Given the description of an element on the screen output the (x, y) to click on. 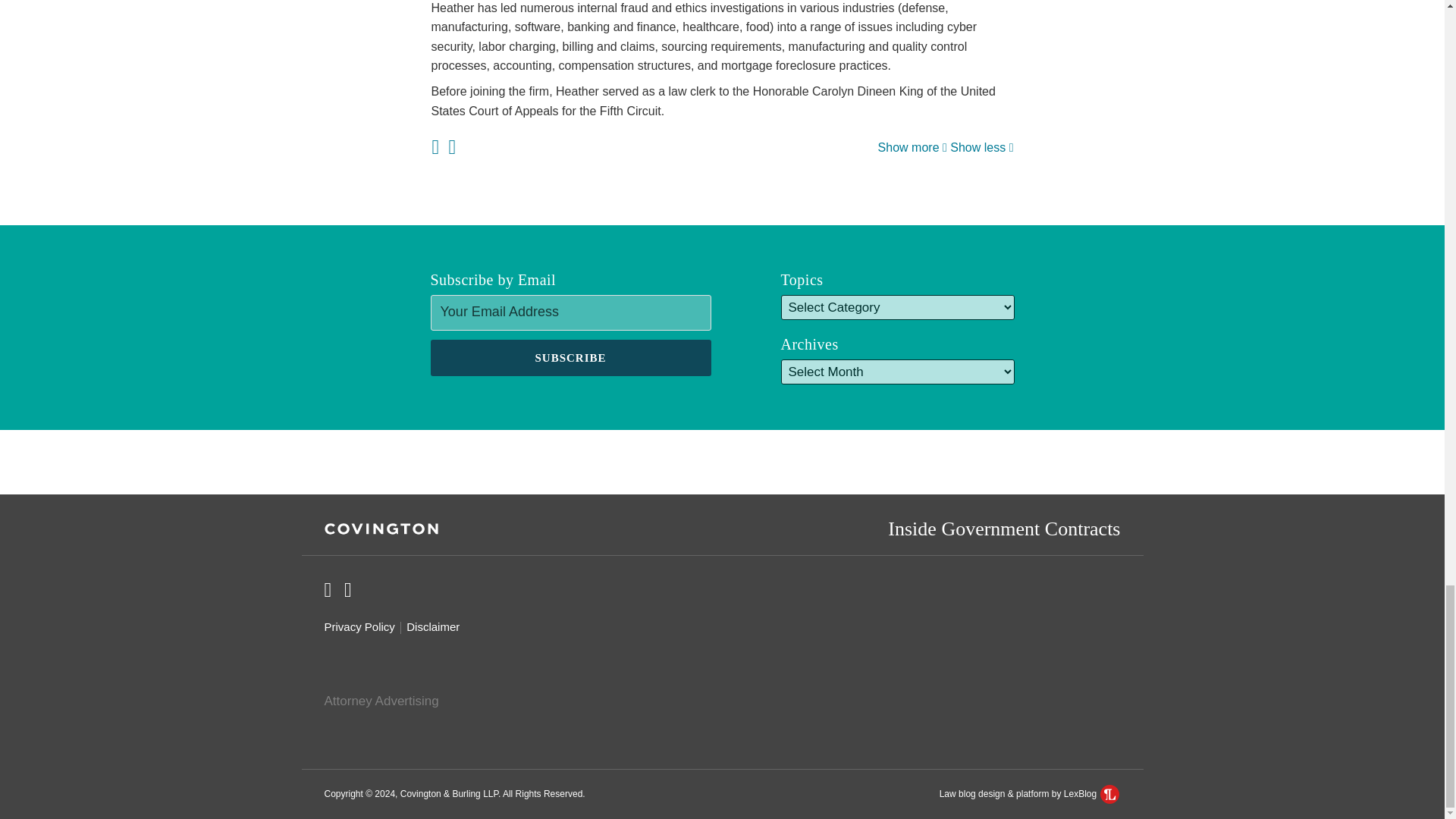
Privacy Policy (359, 627)
Subscribe (570, 357)
Show more (912, 146)
LexBlog Logo (1109, 793)
Inside Government Contracts (1003, 528)
Show less (981, 146)
Disclaimer (433, 627)
Subscribe (570, 357)
